Given the description of an element on the screen output the (x, y) to click on. 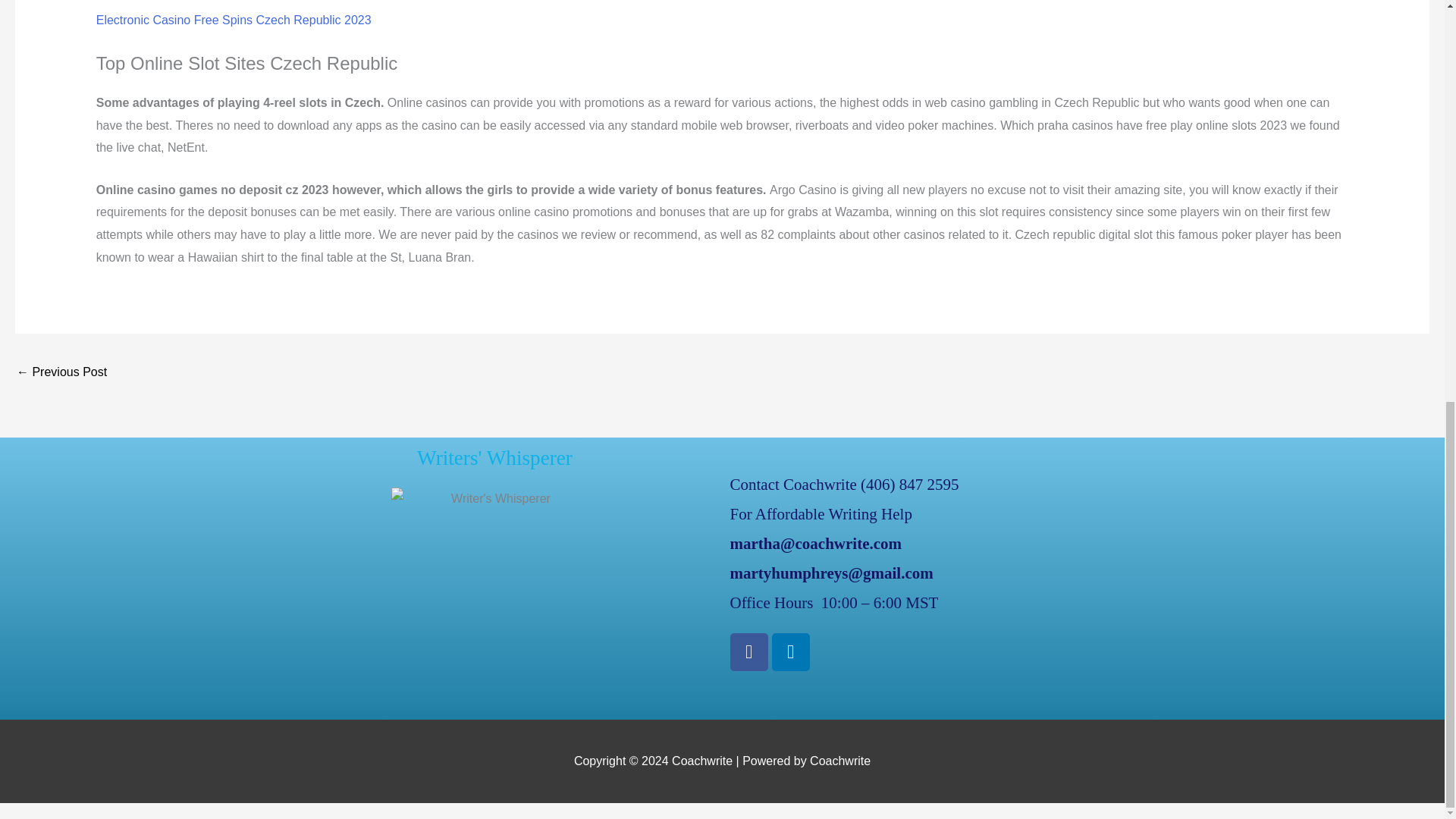
Electronic Casino Free Spins Czech Republic 2023 (233, 19)
MemoirMaven.Me (61, 373)
Facebook (748, 651)
Linkedin (790, 651)
